Given the description of an element on the screen output the (x, y) to click on. 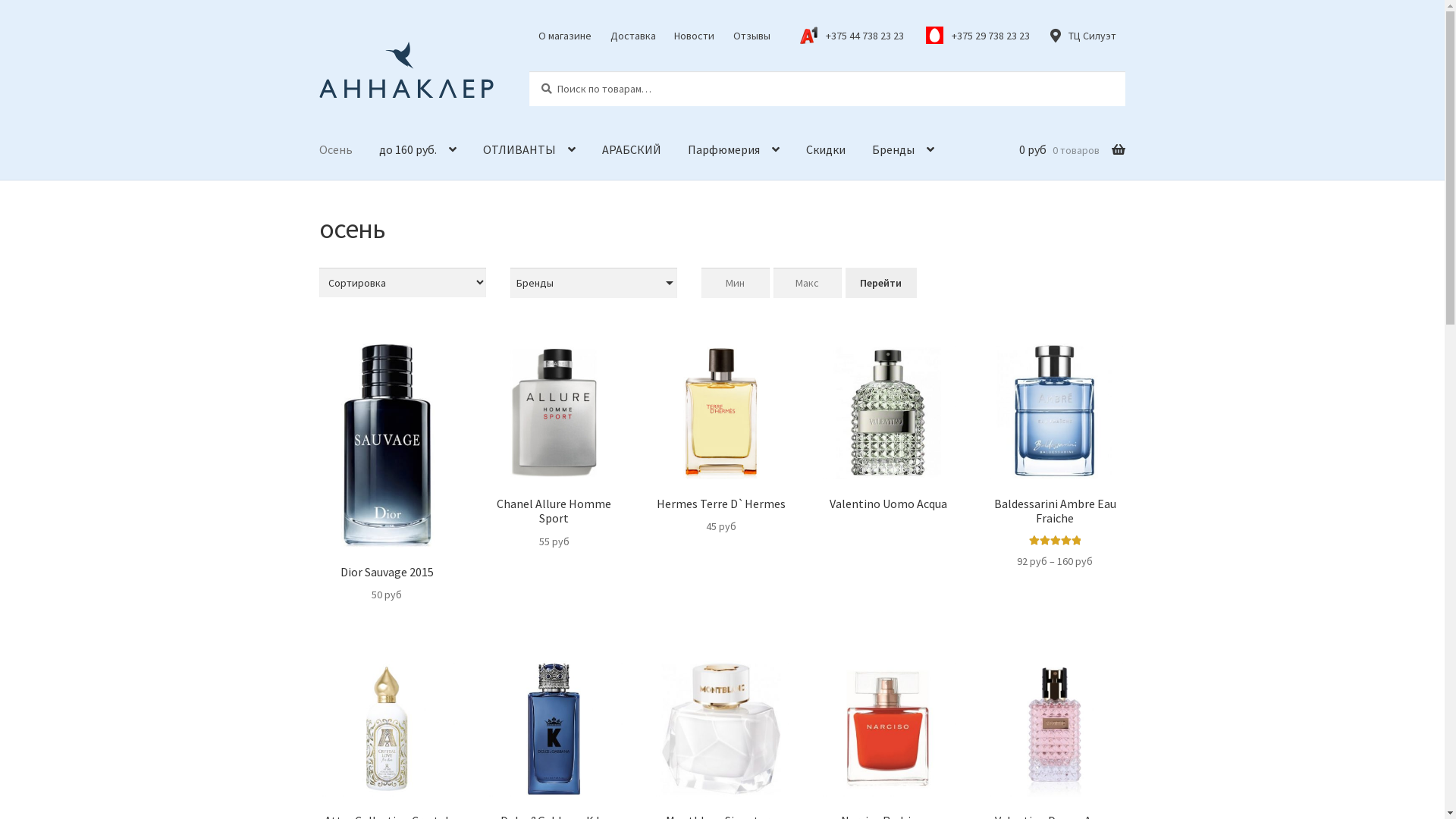
+375 29 738 23 23 Element type: text (981, 35)
Valentino Uomo Acqua Element type: text (887, 427)
+375 44 738 23 23 Element type: text (856, 35)
